Given the description of an element on the screen output the (x, y) to click on. 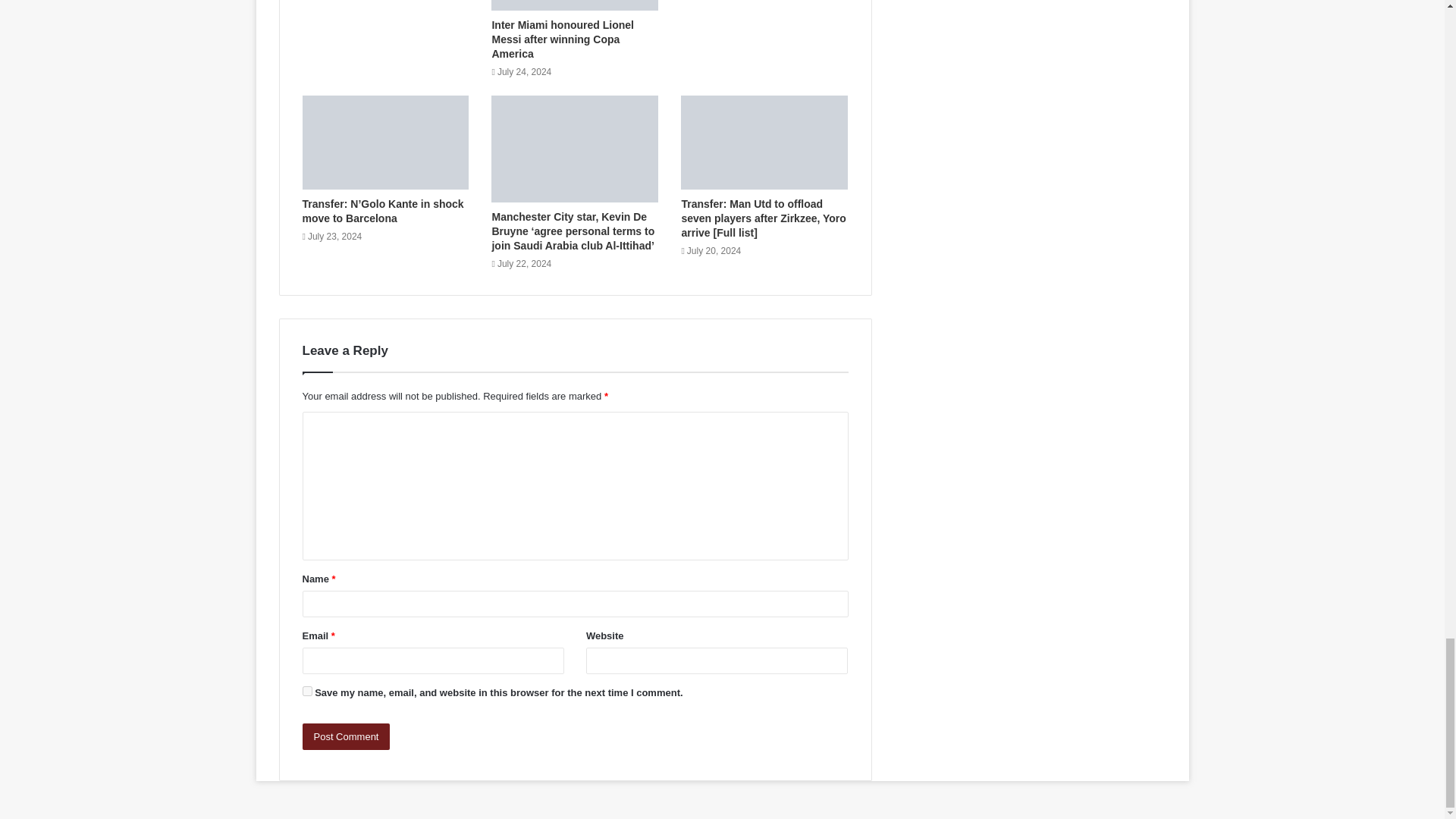
Post Comment (345, 736)
Post Comment (345, 736)
yes (306, 691)
Inter Miami honoured Lionel Messi after winning Copa America (562, 38)
